Given the description of an element on the screen output the (x, y) to click on. 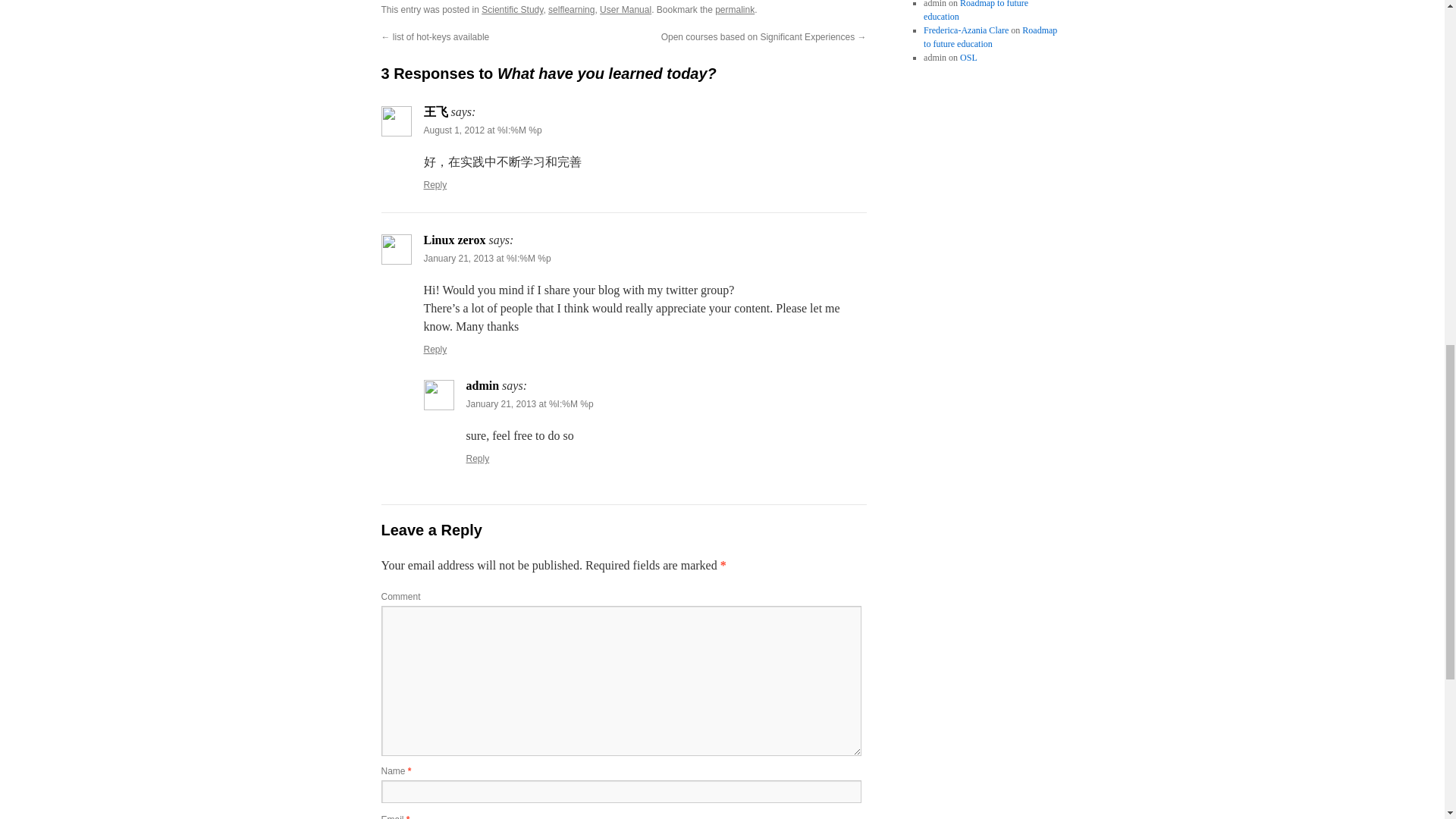
Permalink to What have you learned today? (734, 9)
permalink (734, 9)
Reply (477, 458)
Reply (434, 348)
Reply (434, 184)
User Manual (624, 9)
selflearning (571, 9)
Scientific Study (512, 9)
